Given the description of an element on the screen output the (x, y) to click on. 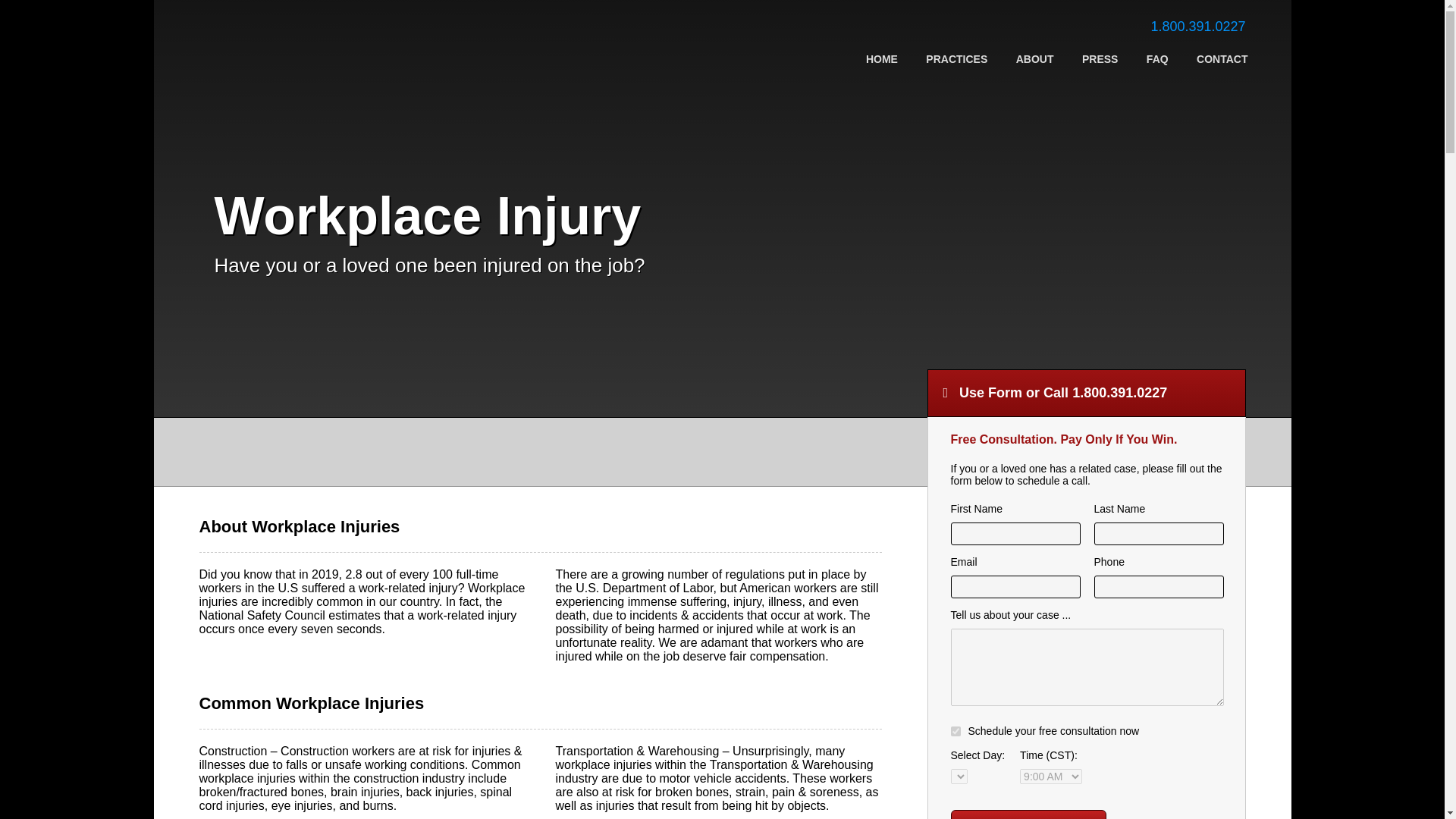
PRESS (1099, 59)
FAQ (1158, 59)
CONTACT (1221, 59)
1.800.391.0227 (1197, 26)
ABOUT (1035, 59)
Submit Information (1028, 814)
yes (955, 731)
HOME (882, 59)
PRACTICES (956, 59)
